Given the description of an element on the screen output the (x, y) to click on. 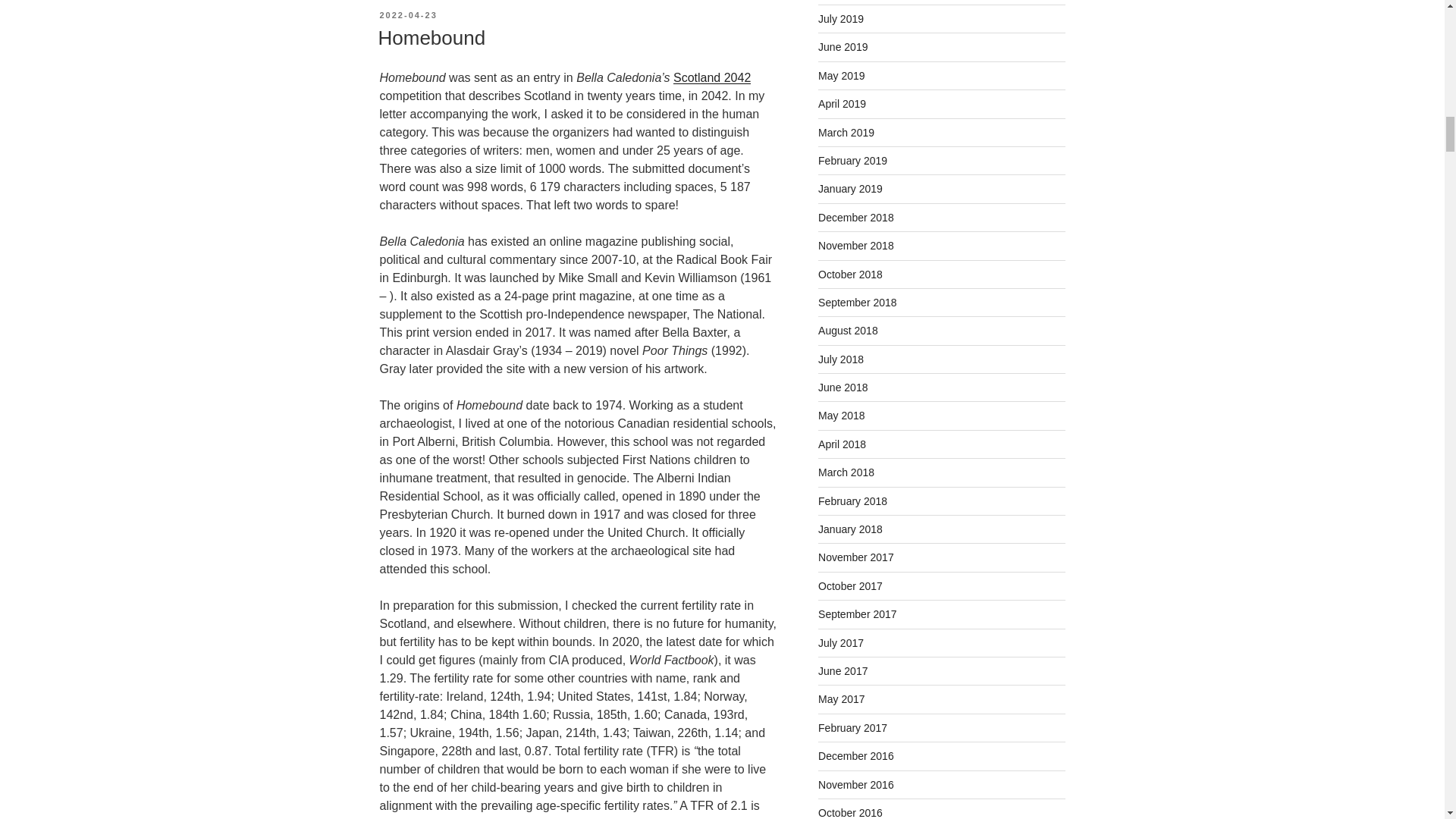
Homebound (430, 37)
2022-04-23 (407, 14)
Scotland 2042 (711, 77)
